Given the description of an element on the screen output the (x, y) to click on. 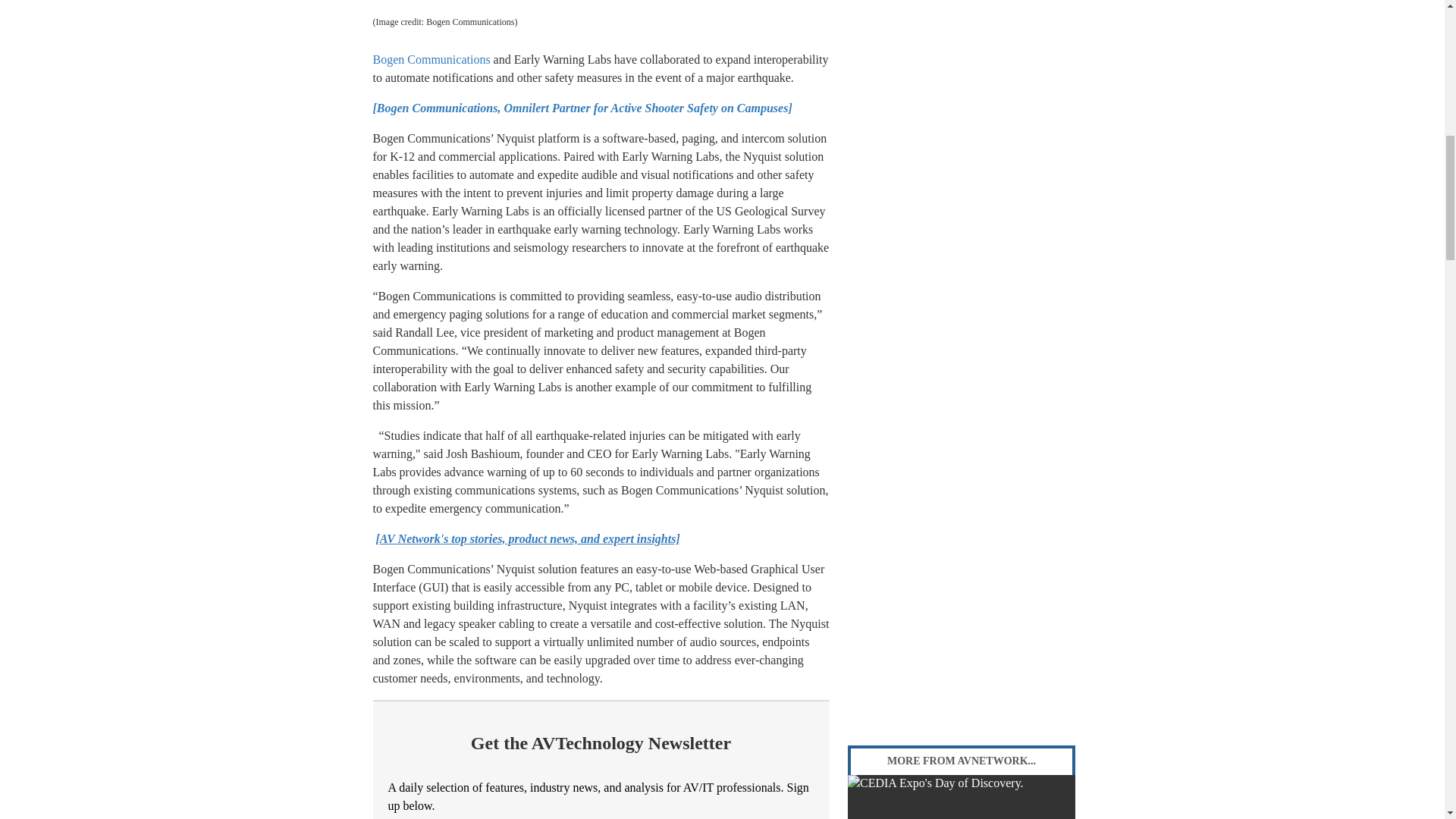
Bogen Communications (431, 59)
CEDIA Expo 2024 Announces Plans for Day of Discovery (961, 796)
